Given the description of an element on the screen output the (x, y) to click on. 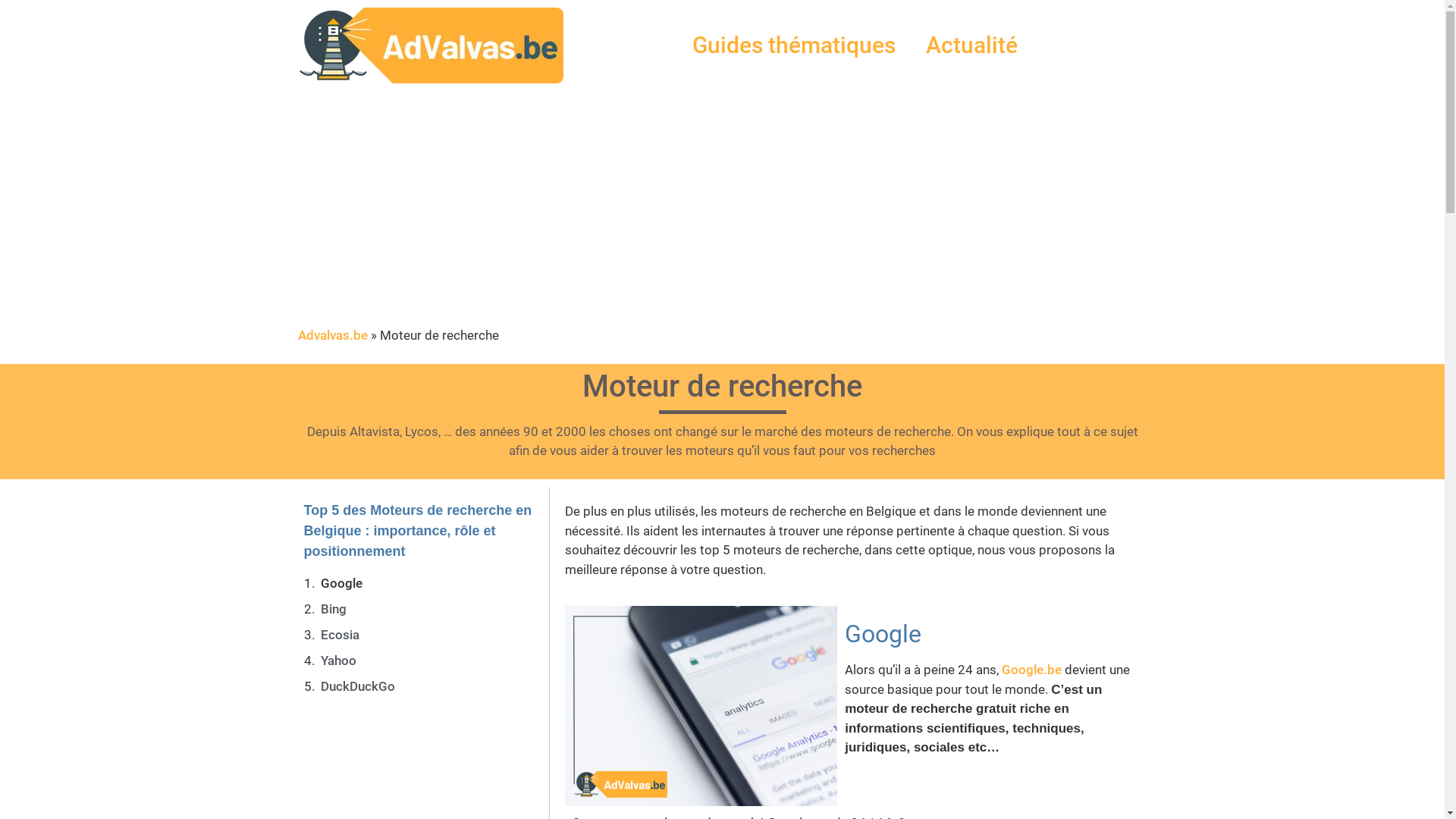
Advertisement Element type: hover (721, 212)
DuckDuckGo  Element type: text (358, 686)
Advalvas.be Element type: text (332, 334)
Bing  Element type: text (334, 609)
Yahoo Element type: text (337, 661)
Google Element type: text (340, 583)
Ecosia  Element type: text (340, 635)
Google.be Element type: text (1031, 669)
